Given the description of an element on the screen output the (x, y) to click on. 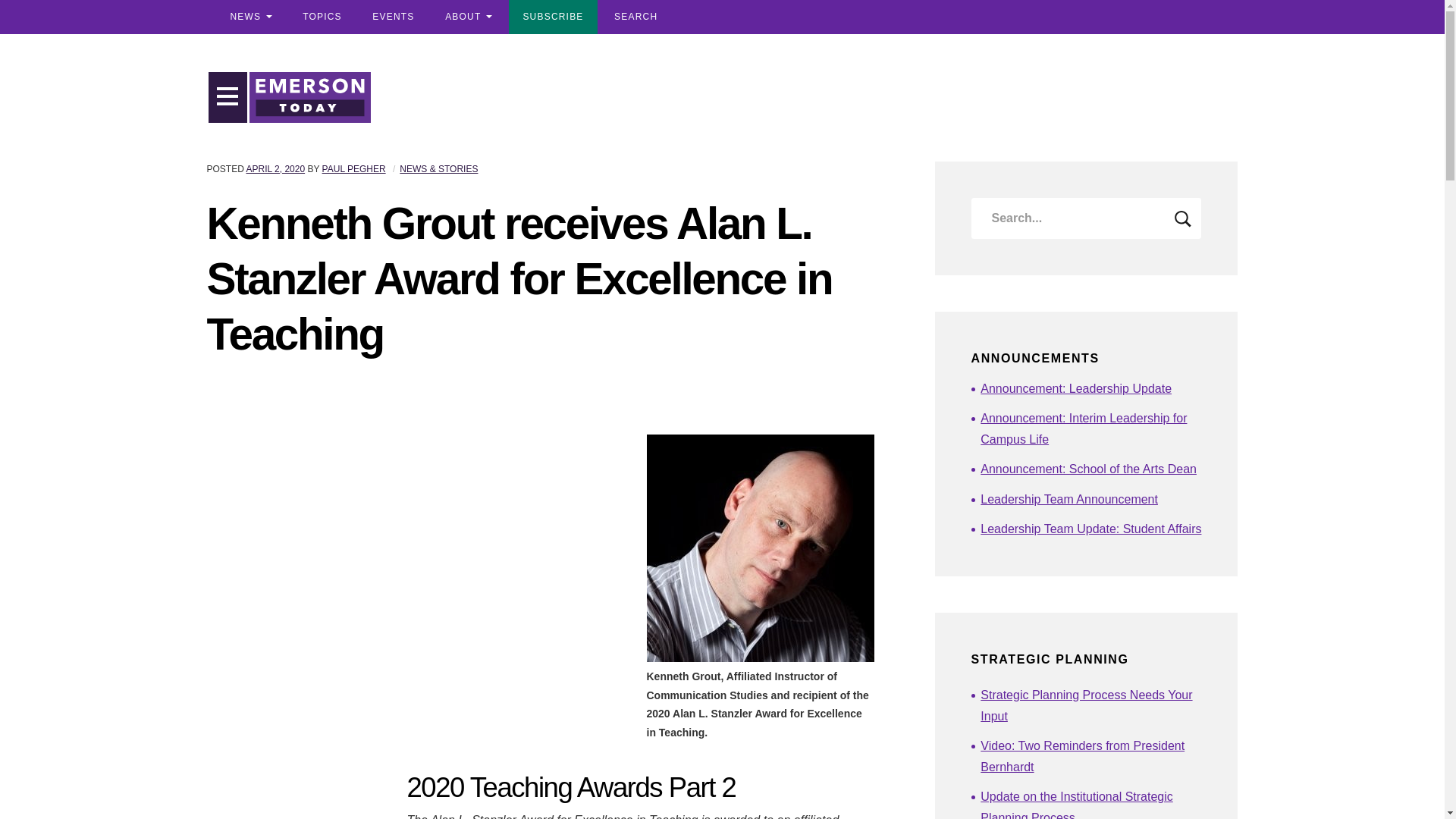
OPEN MENU OVERLAY (227, 97)
SEARCH (1182, 218)
SEARCH (635, 17)
TOPICS (321, 17)
APRIL 2, 2020 (275, 168)
Leadership Team Update: Student Affairs (1090, 528)
Update on the Institutional Strategic Planning Process (1090, 802)
Video: Two Reminders from President Bernhardt (1090, 756)
PAUL PEGHER (353, 168)
SUBSCRIBE (552, 17)
Announcement: School of the Arts Dean (1090, 468)
Strategic Planning Process Needs Your Input (1090, 705)
NEWS (250, 17)
Leadership Team Announcement (1090, 499)
Announcement: Interim Leadership for Campus Life (1090, 428)
